Given the description of an element on the screen output the (x, y) to click on. 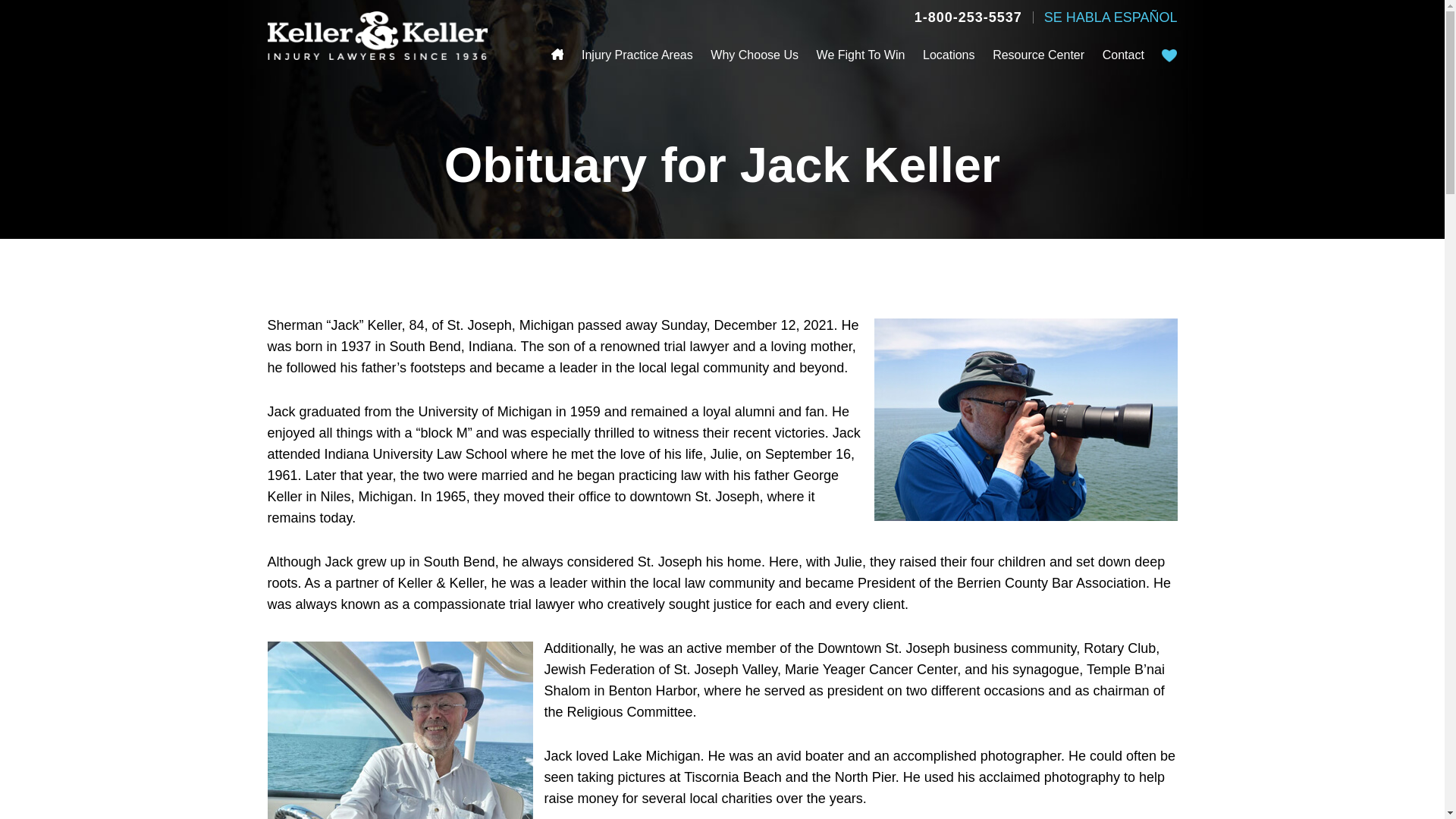
We Fight To Win (860, 55)
Locations (949, 55)
Why Choose Us (753, 55)
1-800-253-5537 (968, 17)
Injury Practice Areas (636, 55)
